Given the description of an element on the screen output the (x, y) to click on. 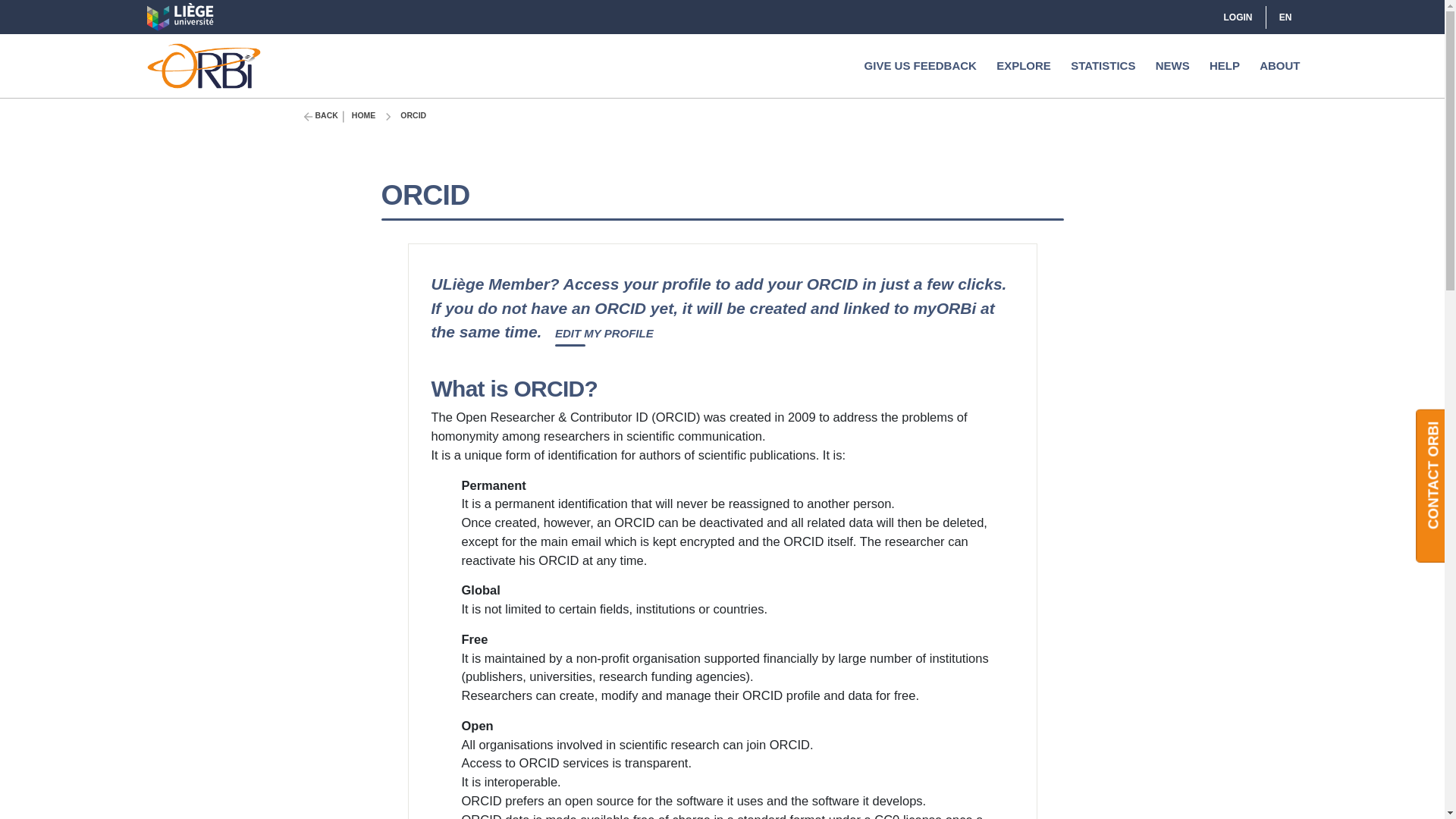
NEWS (1172, 65)
GIVE US FEEDBACK (920, 65)
ABOUT (1279, 65)
EDIT MY PROFILE (603, 334)
  LOGIN (1225, 17)
BACK (326, 117)
HELP (1224, 65)
HOME (363, 117)
EXPLORE (1023, 65)
STATISTICS (1102, 65)
